Given the description of an element on the screen output the (x, y) to click on. 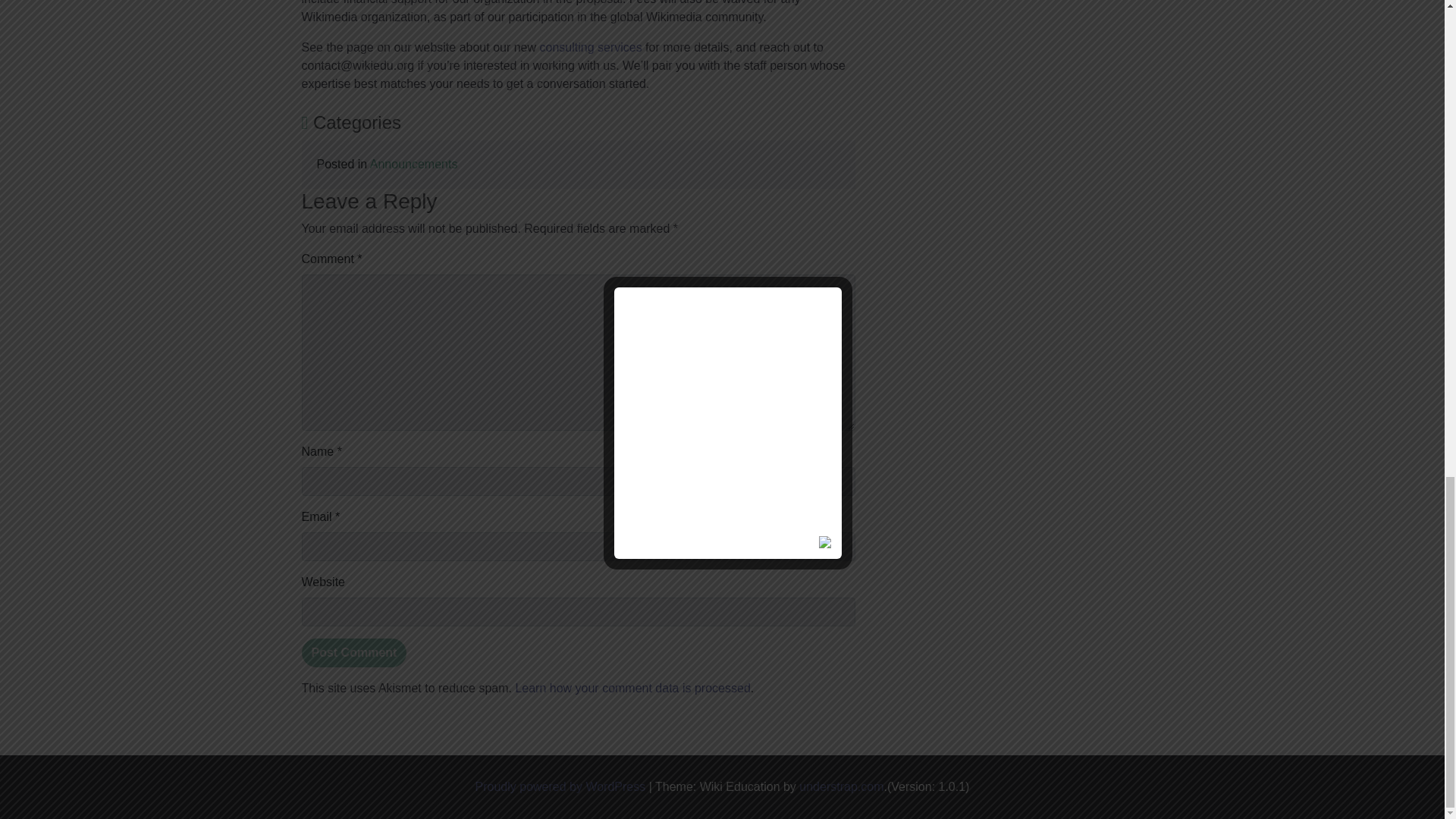
Announcements (413, 164)
consulting services (591, 47)
Post Comment (354, 652)
Post Comment (354, 652)
Learn how your comment data is processed (632, 687)
